Given the description of an element on the screen output the (x, y) to click on. 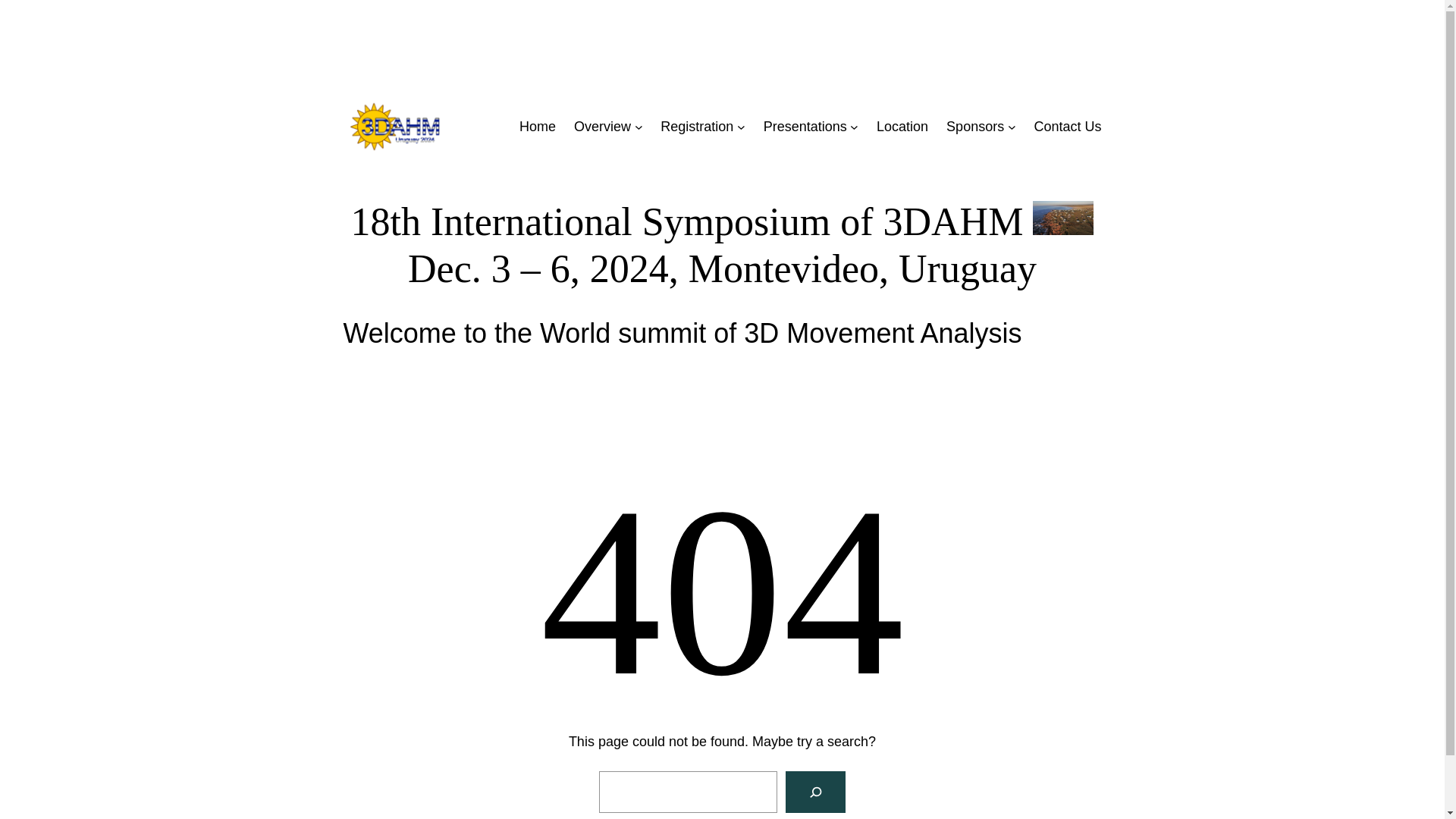
Home Element type: text (537, 127)
Registration Element type: text (696, 127)
Overview Element type: text (602, 127)
Contact Us Element type: text (1067, 127)
Sponsors Element type: text (975, 127)
Presentations Element type: text (805, 127)
Location Element type: text (902, 127)
